Given the description of an element on the screen output the (x, y) to click on. 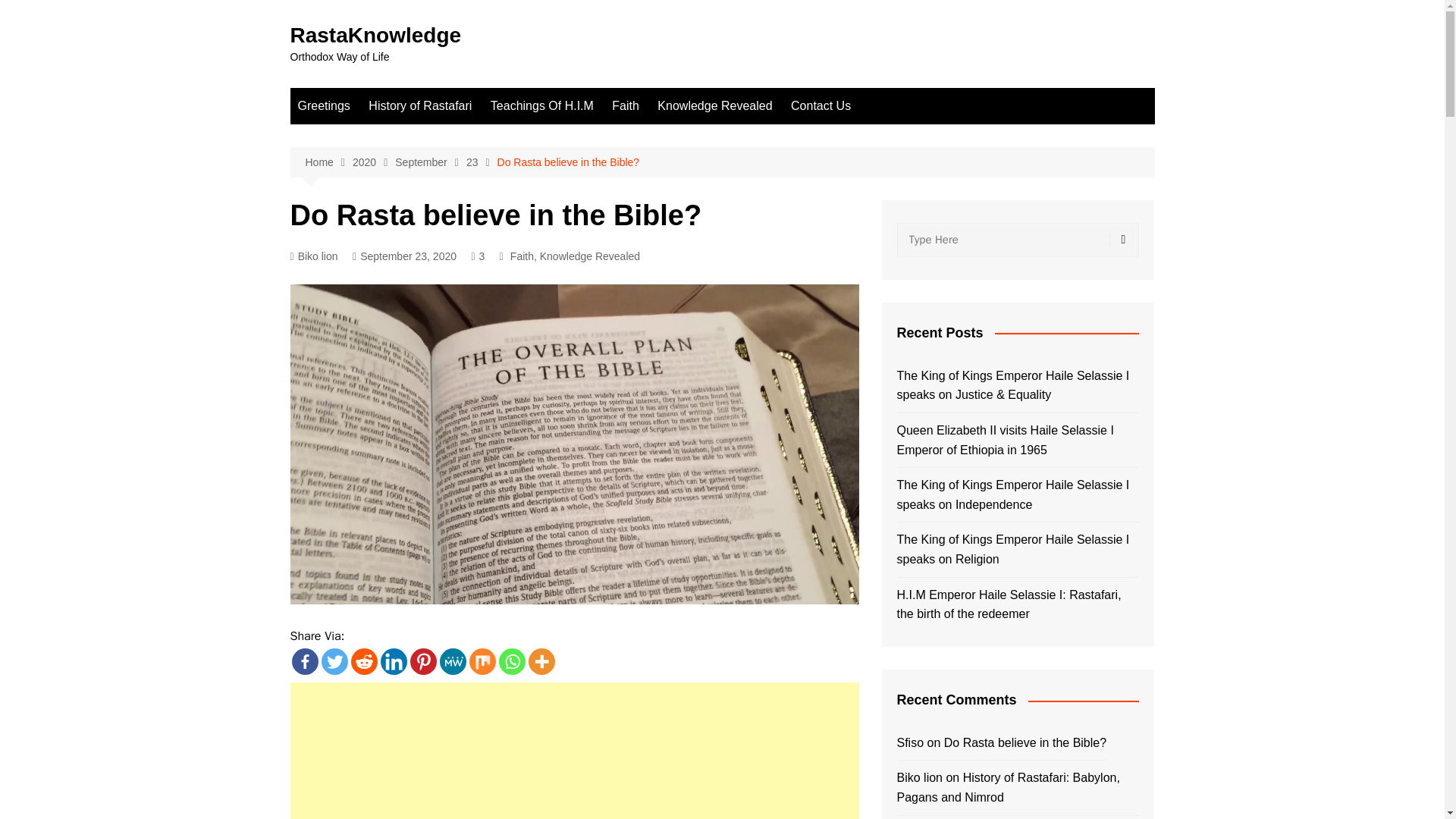
Faith (625, 105)
MeWe (452, 661)
Contact Us (821, 105)
Facebook (304, 661)
Knowledge Revealed (713, 105)
2020 (373, 162)
Home (328, 162)
Teachings Of H.I.M (542, 105)
Do Rasta believe in the Bible? (568, 161)
Whatsapp (512, 661)
Knowledge Revealed (590, 256)
RastaKnowledge (375, 34)
September 23, 2020 (404, 256)
History of Rastafari (420, 105)
Greetings (322, 105)
